Given the description of an element on the screen output the (x, y) to click on. 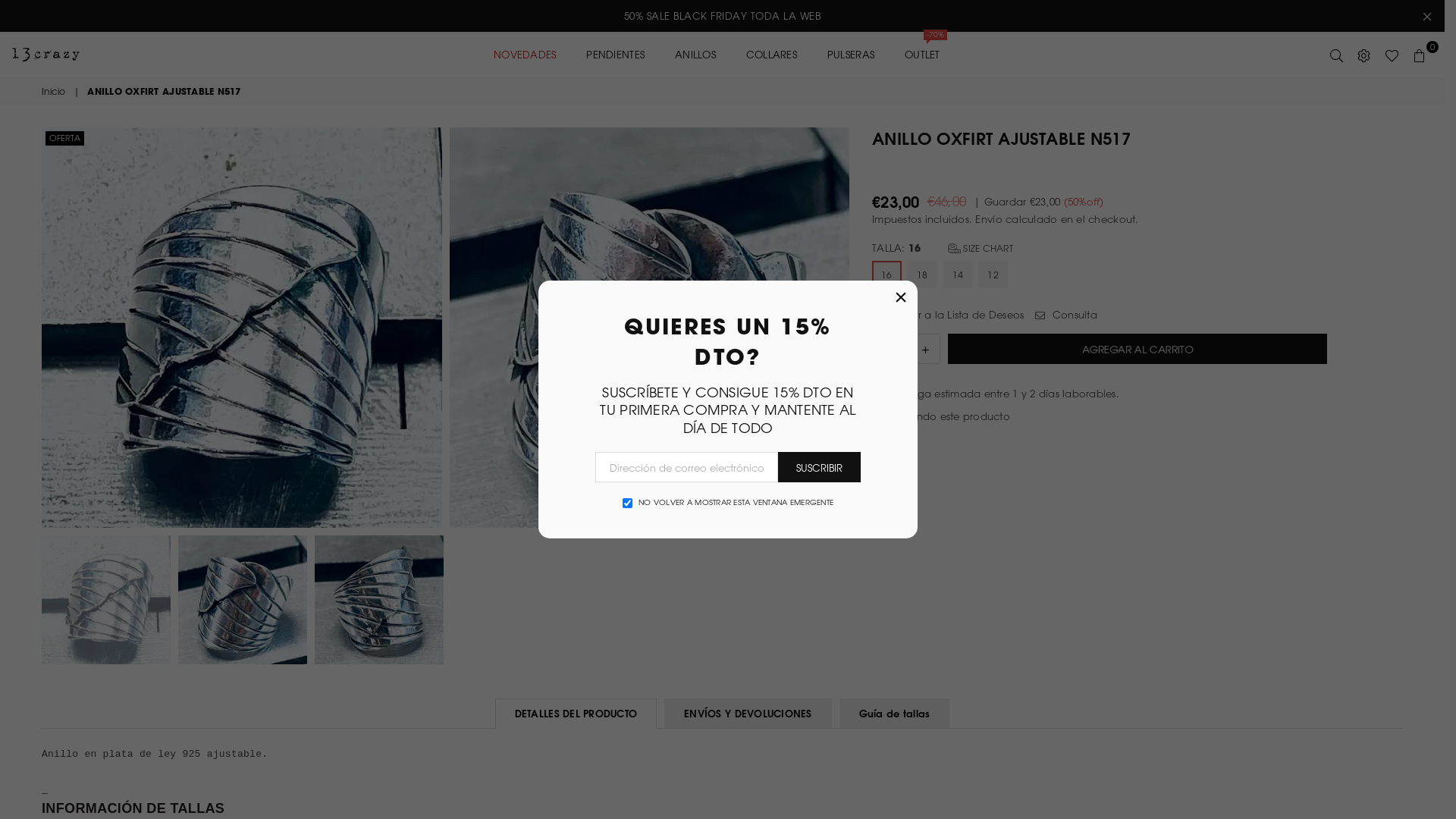
0 Element type: text (1419, 54)
13CRAZY Element type: text (75, 54)
SIZE CHART Element type: text (980, 247)
NOVEDADES Element type: text (524, 54)
ANILLOS Element type: text (695, 54)
Consulta Element type: text (1066, 314)
PENDIENTES Element type: text (614, 54)
50% SALE BLACK FRIDAY TODA LA WEB Element type: text (722, 15)
Lista de Deseos Element type: hover (1391, 54)
OUTLET 
-70% Element type: text (923, 54)
Inicio Element type: text (54, 90)
Cantidad Element type: hover (906, 348)
AGREGAR AL CARRITO Element type: text (1137, 348)
Buscar Element type: hover (1336, 54)
PULSERAS Element type: text (850, 54)
SUSCRIBIR Element type: text (819, 466)
COLLARES Element type: text (771, 54)
DETALLES DEL PRODUCTO Element type: text (575, 713)
